Given the description of an element on the screen output the (x, y) to click on. 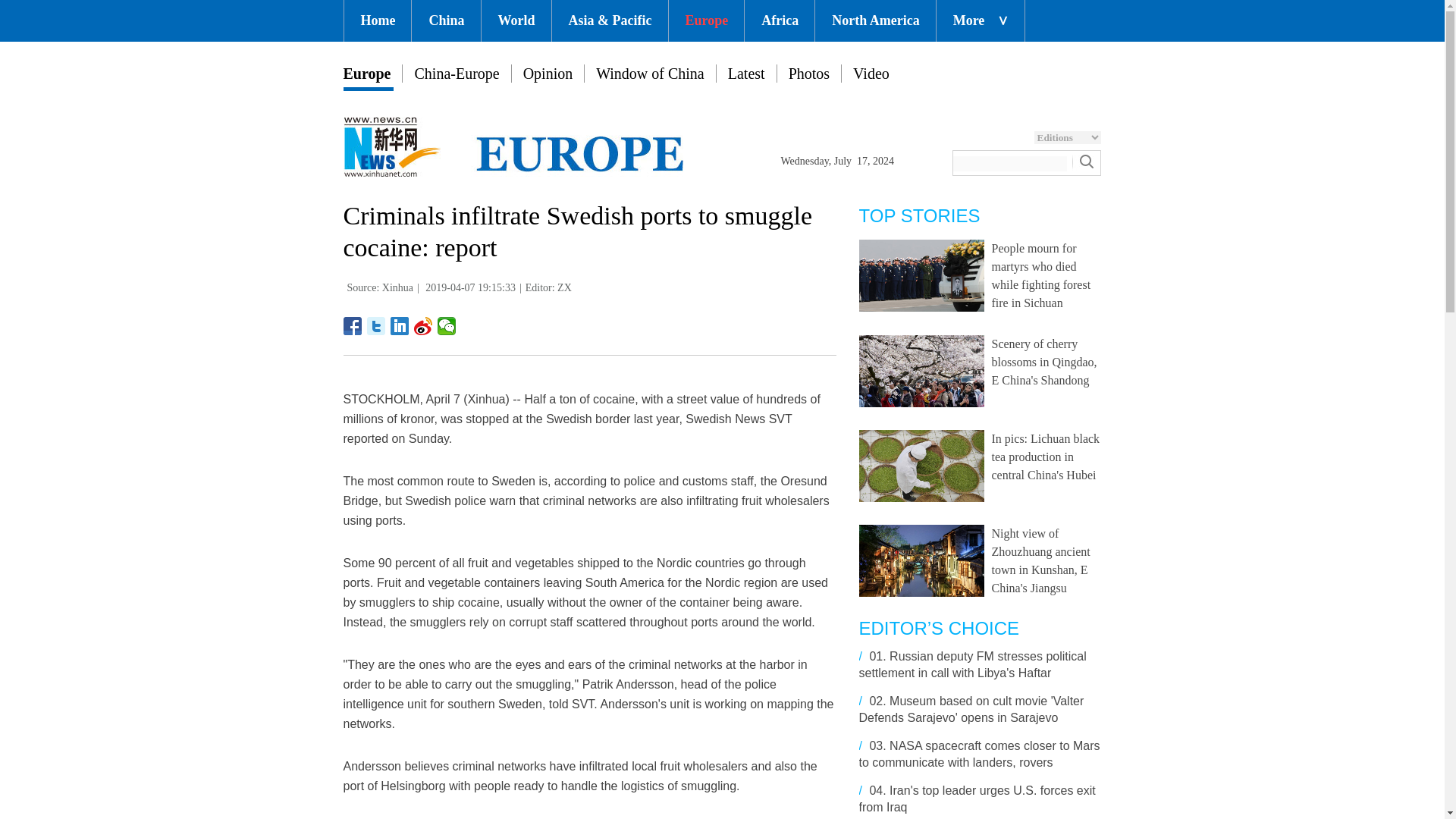
Europe (706, 20)
Window of China (649, 73)
North America (874, 20)
China (446, 20)
Photos (809, 73)
China-Europe (456, 73)
World (516, 20)
Opinion (547, 73)
Europe (366, 73)
Latest (746, 73)
Africa (778, 20)
Home (377, 20)
Video (871, 73)
